Given the description of an element on the screen output the (x, y) to click on. 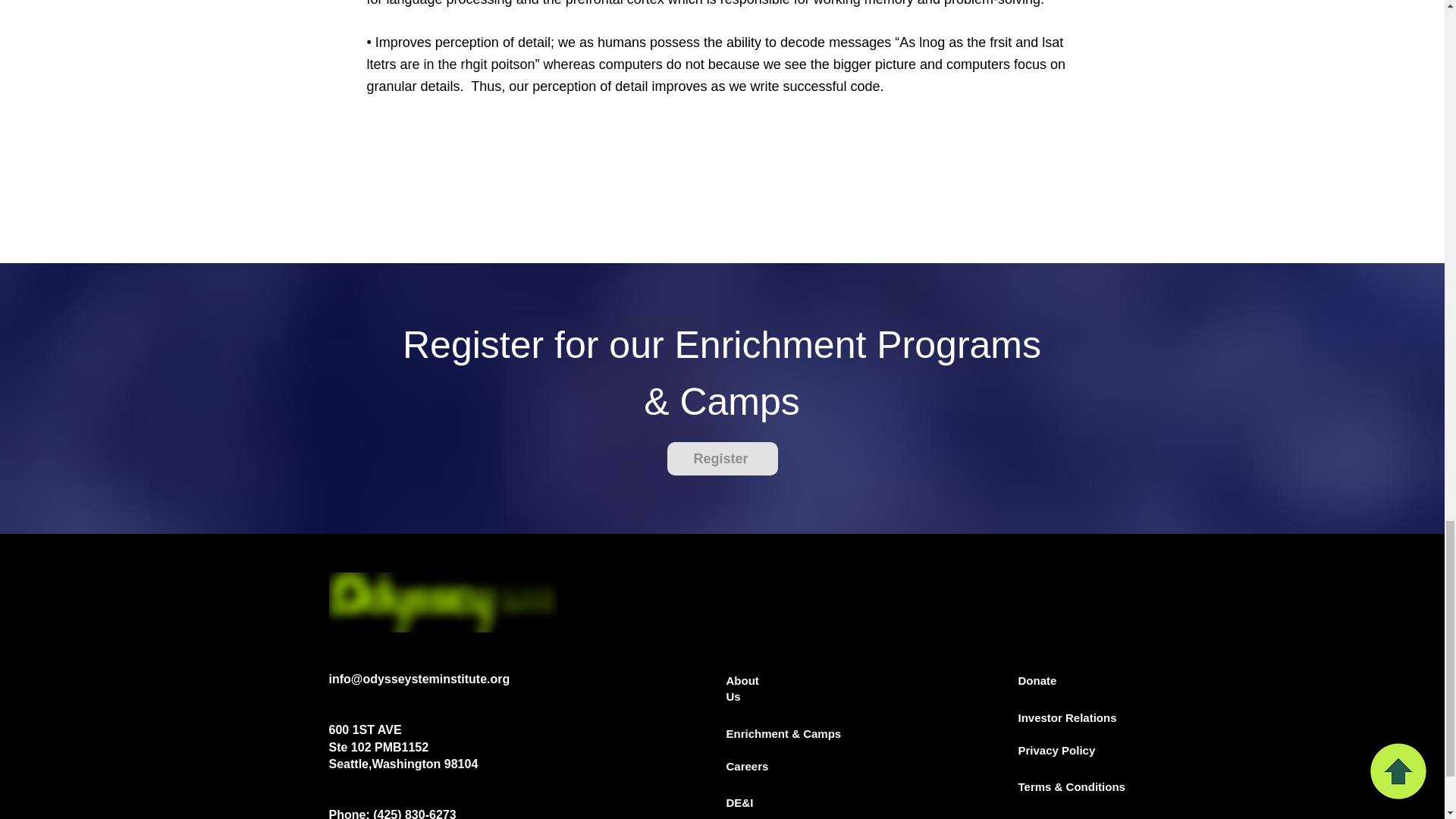
Privacy Policy (1055, 749)
Investor Relations (1066, 717)
Donate (1037, 680)
Seattle,Washington  (386, 763)
Careers (747, 766)
About Us (742, 688)
Register (721, 458)
